Given the description of an element on the screen output the (x, y) to click on. 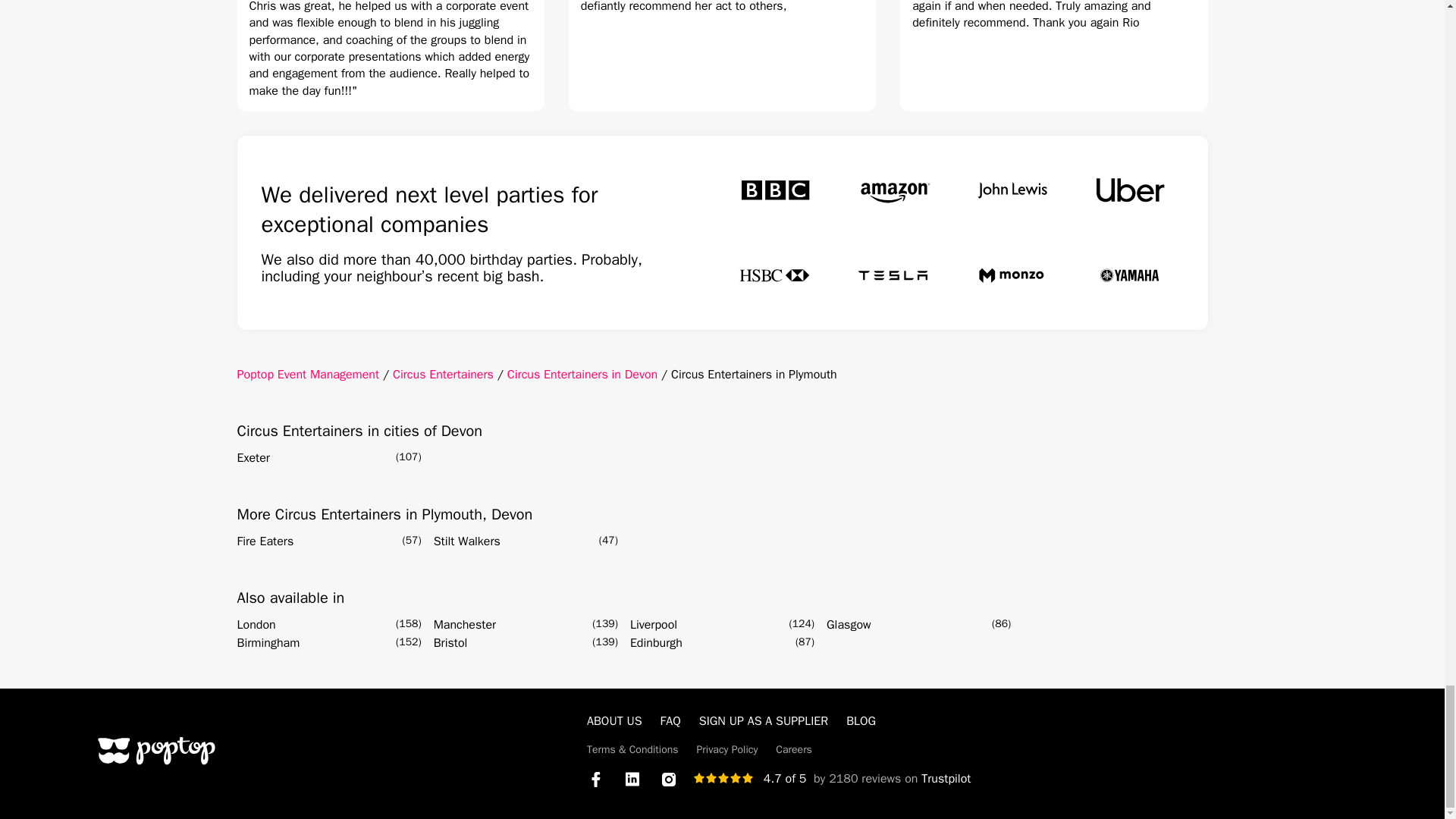
Circus Entertainers in Devon (582, 374)
Bristol (450, 642)
Birmingham (267, 642)
Stilt Walkers (466, 541)
Fire Eaters (264, 541)
BLOG (860, 720)
Privacy Policy (727, 748)
Exeter (252, 457)
Careers (794, 748)
Circus Entertainers (443, 374)
Edinburgh (656, 642)
London (255, 624)
Manchester (464, 624)
SIGN UP AS A SUPPLIER (763, 720)
ABOUT US (614, 720)
